Given the description of an element on the screen output the (x, y) to click on. 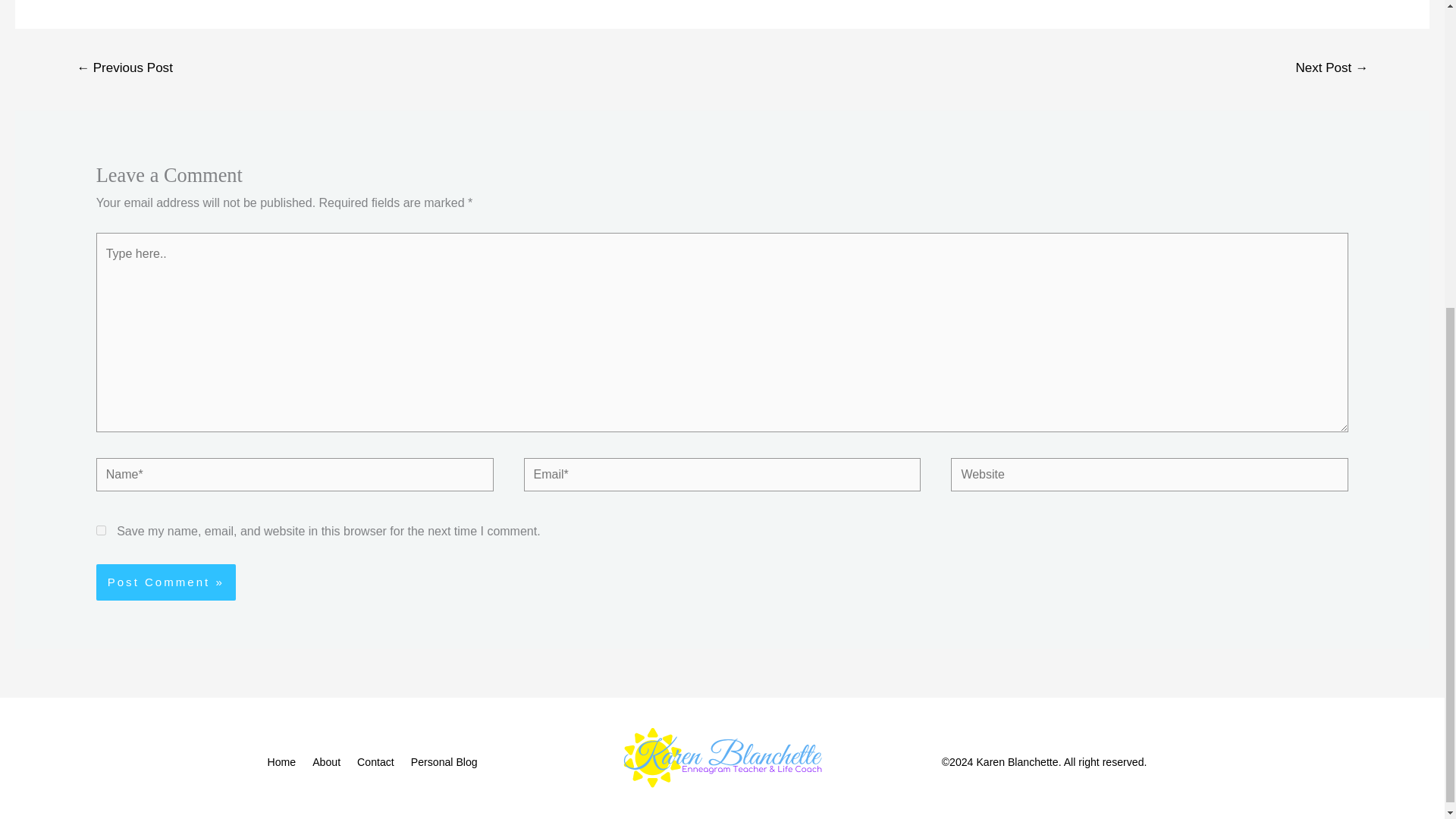
Home (286, 762)
About (329, 762)
Contact (379, 762)
Personal Blog (447, 762)
yes (101, 530)
